Given the description of an element on the screen output the (x, y) to click on. 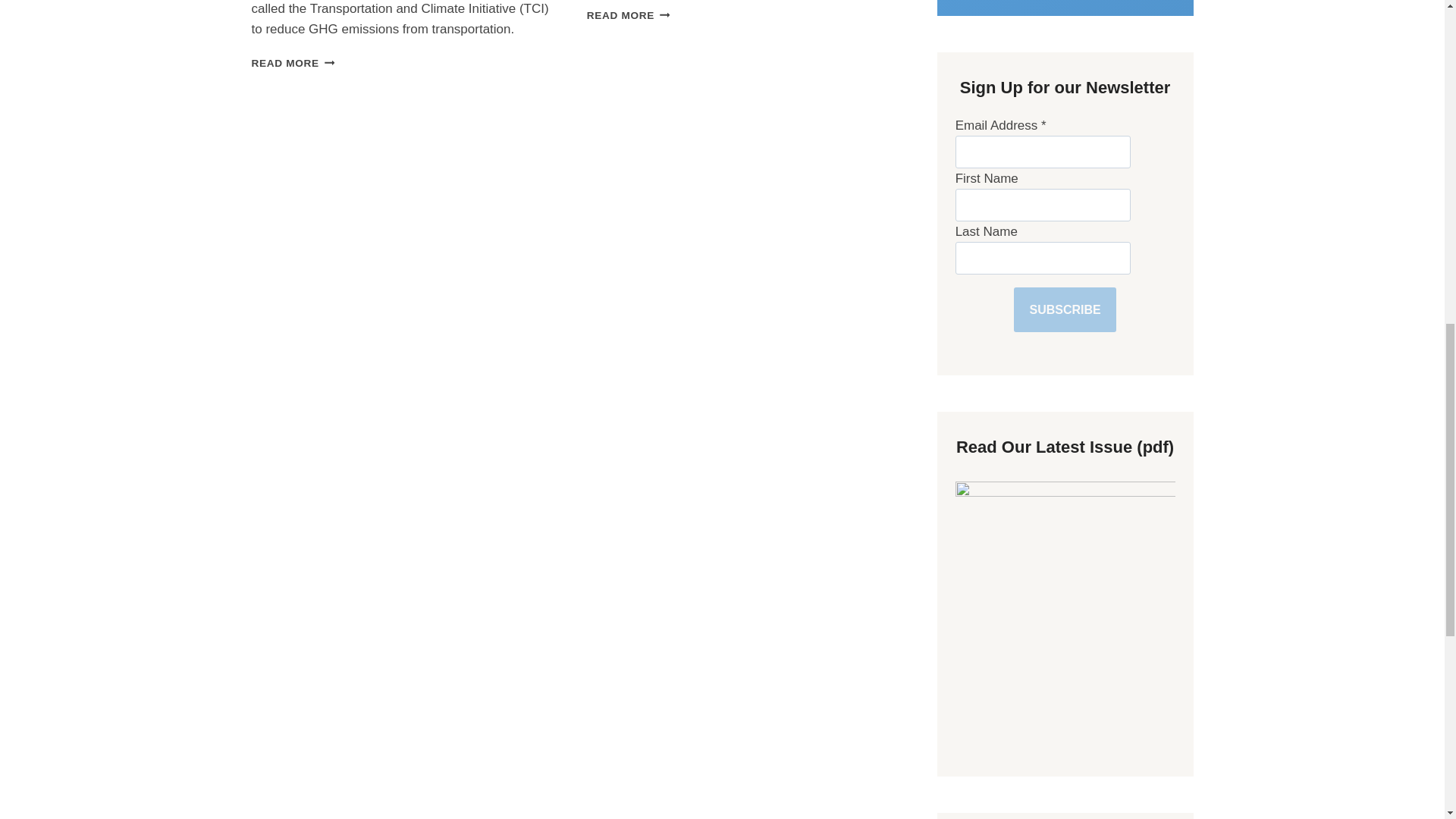
Subscribe (1064, 309)
